Given the description of an element on the screen output the (x, y) to click on. 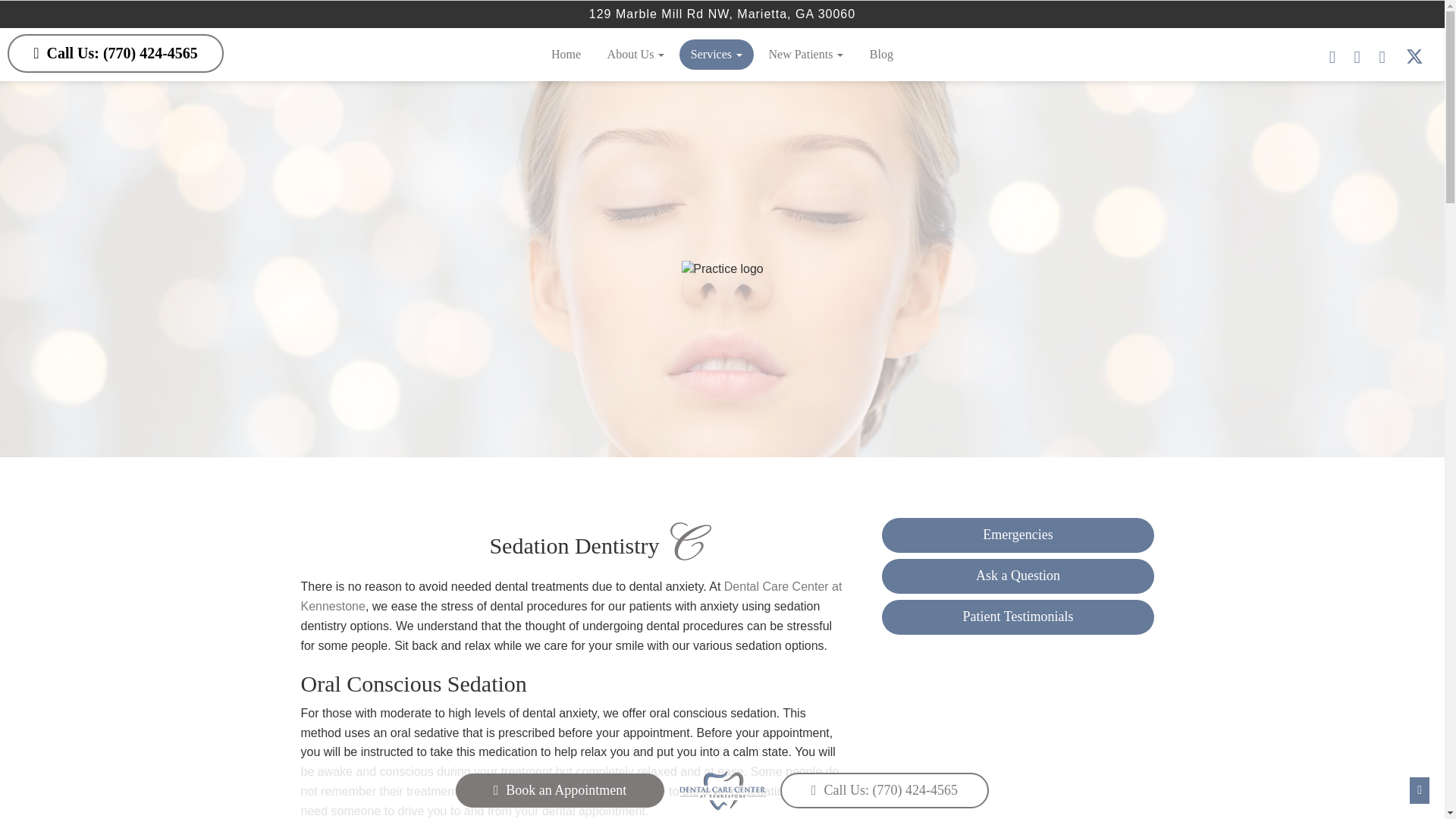
Services (716, 54)
About Us (636, 54)
Marietta GA Dentist (570, 595)
Home (566, 54)
